Given the description of an element on the screen output the (x, y) to click on. 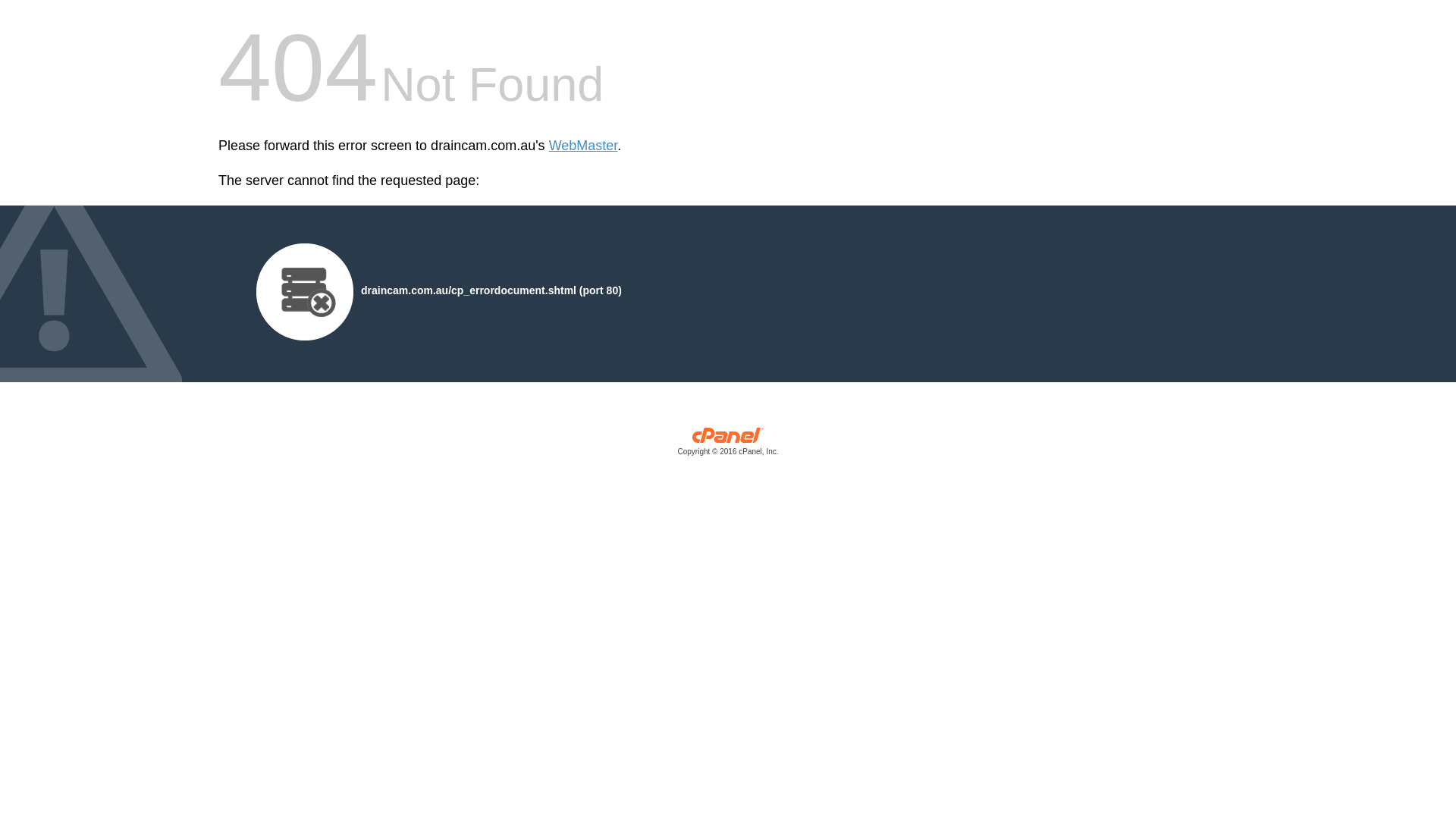
WebMaster Element type: text (583, 145)
